Given the description of an element on the screen output the (x, y) to click on. 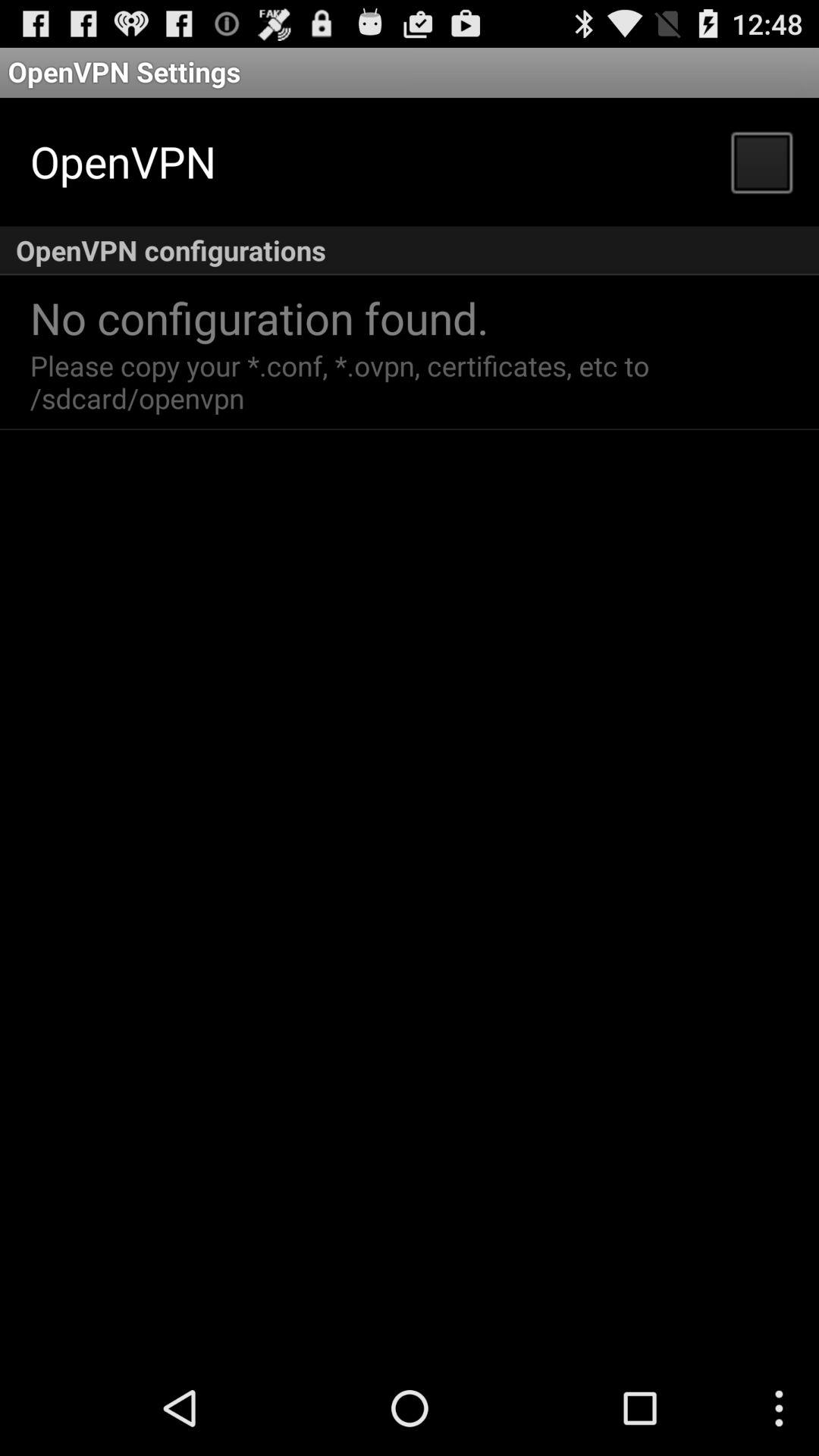
select item below openvpn configurations icon (259, 317)
